Given the description of an element on the screen output the (x, y) to click on. 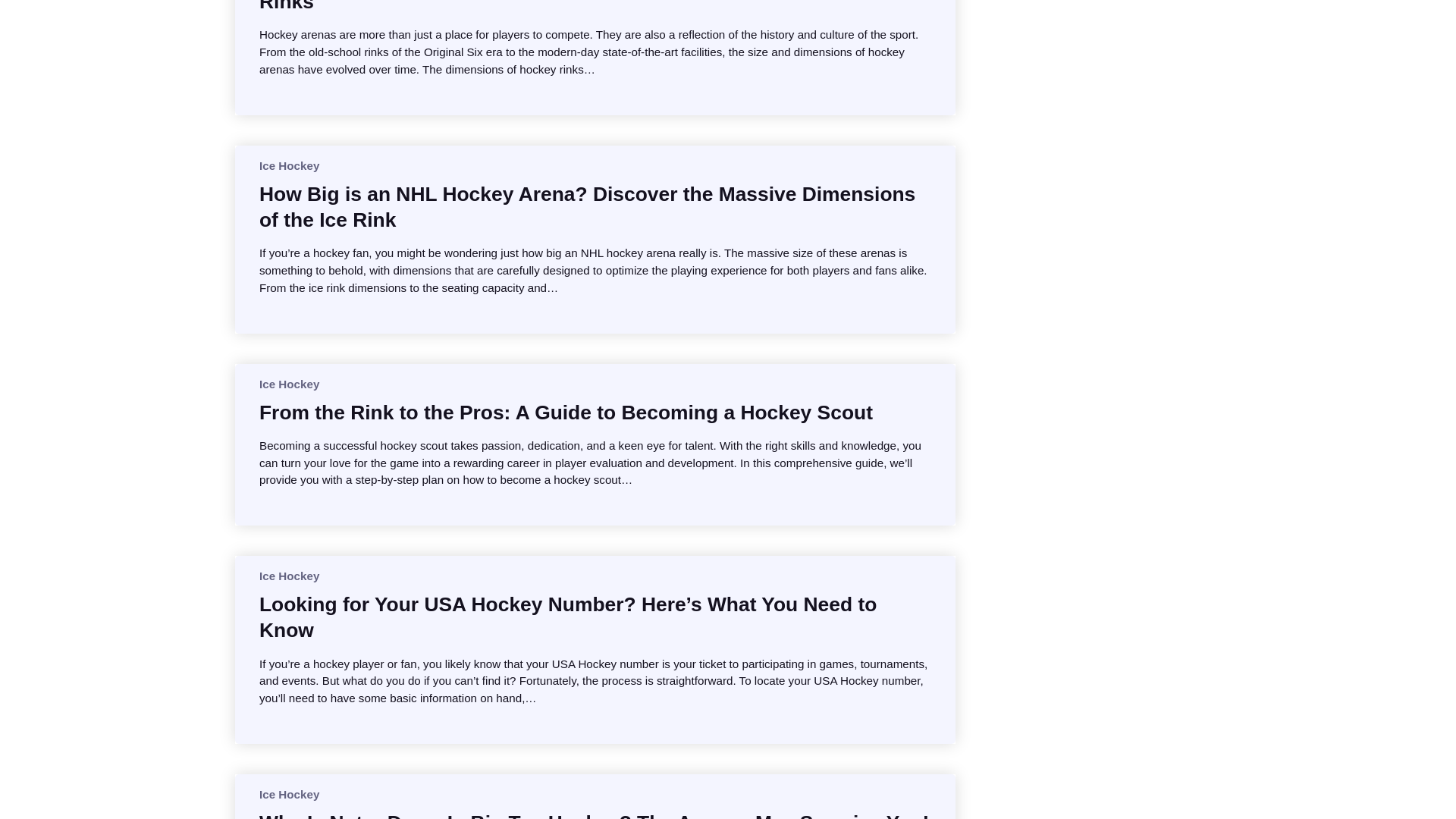
Ice Hockey (288, 793)
Ice Hockey (288, 164)
Ice Hockey (288, 575)
Ice Hockey (288, 383)
